Given the description of an element on the screen output the (x, y) to click on. 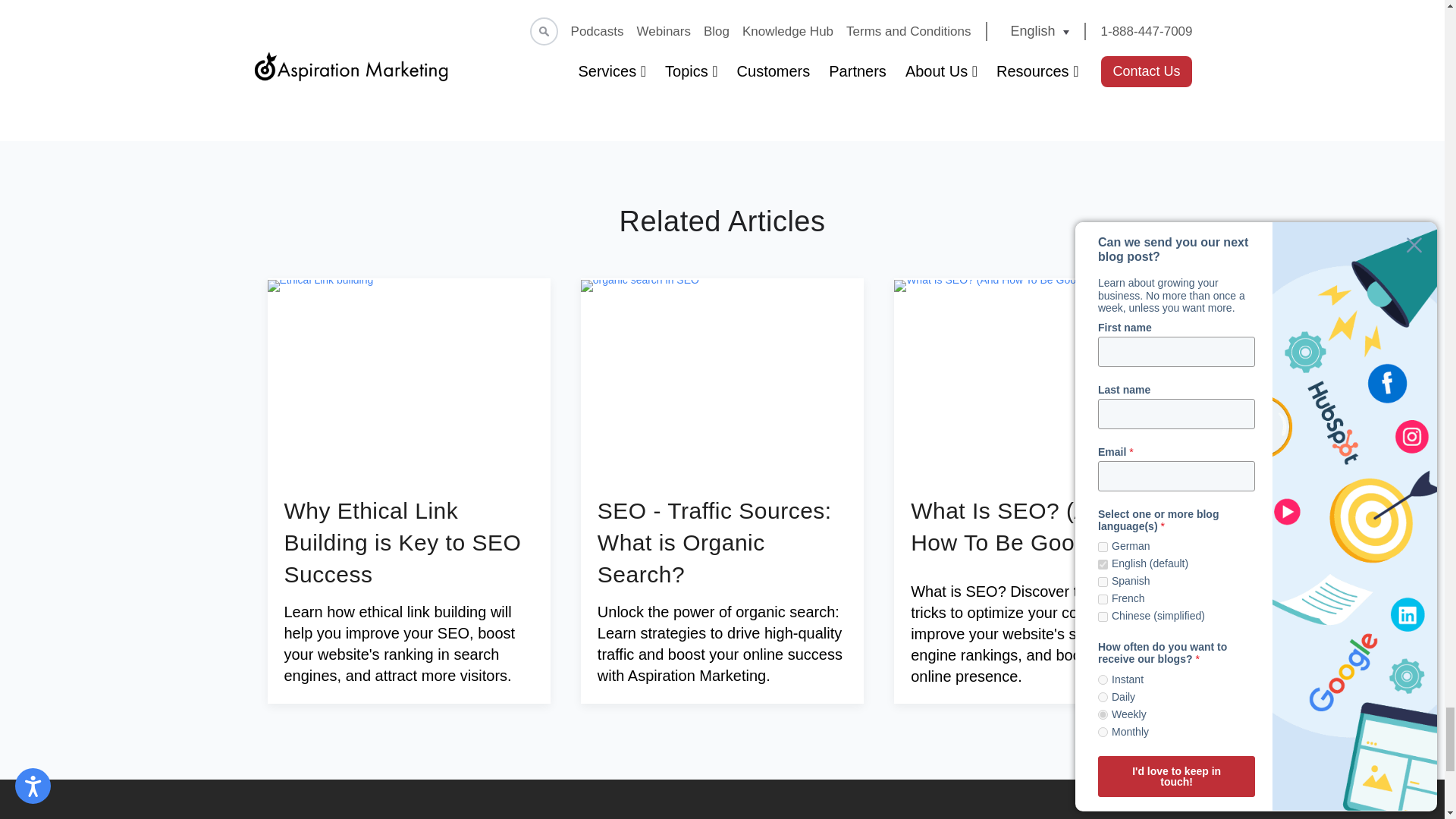
Submit Comment (721, 2)
